Given the description of an element on the screen output the (x, y) to click on. 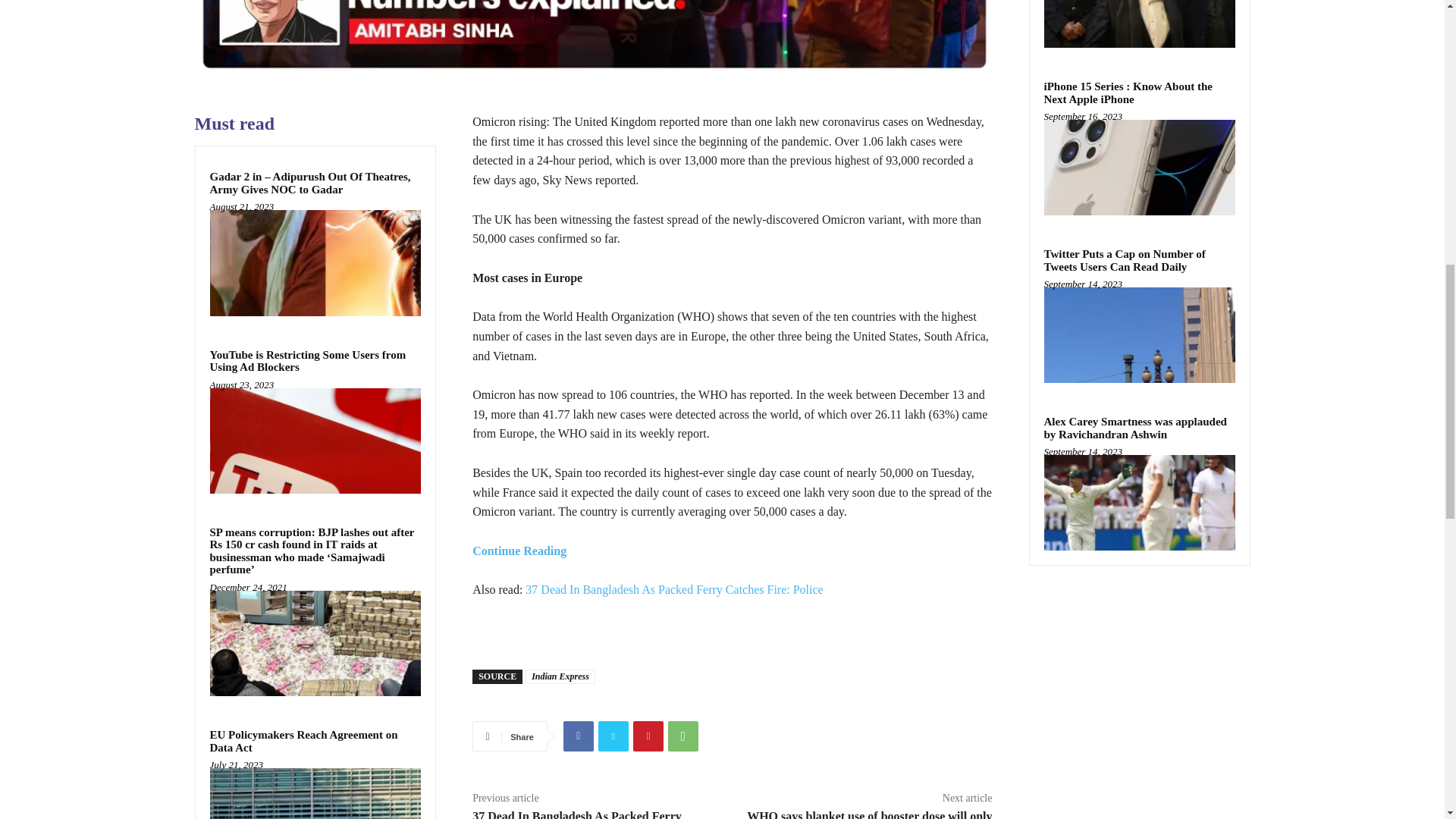
Omicron (592, 38)
